Given the description of an element on the screen output the (x, y) to click on. 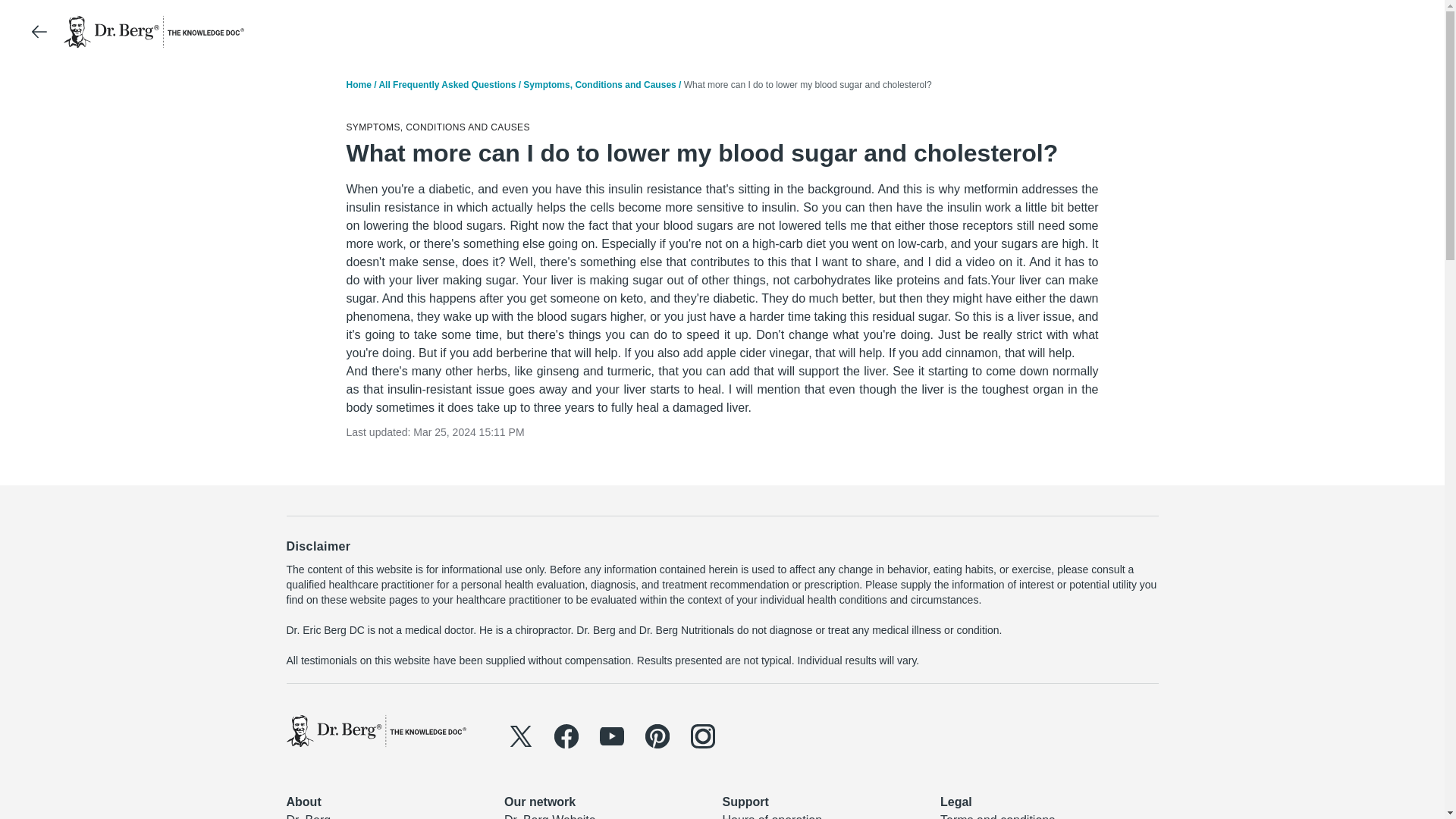
Home (358, 84)
Dr. Berg Website (549, 816)
Dr. Berg (308, 816)
All Frequently Asked Questions (446, 84)
Terms and conditions (997, 816)
